Given the description of an element on the screen output the (x, y) to click on. 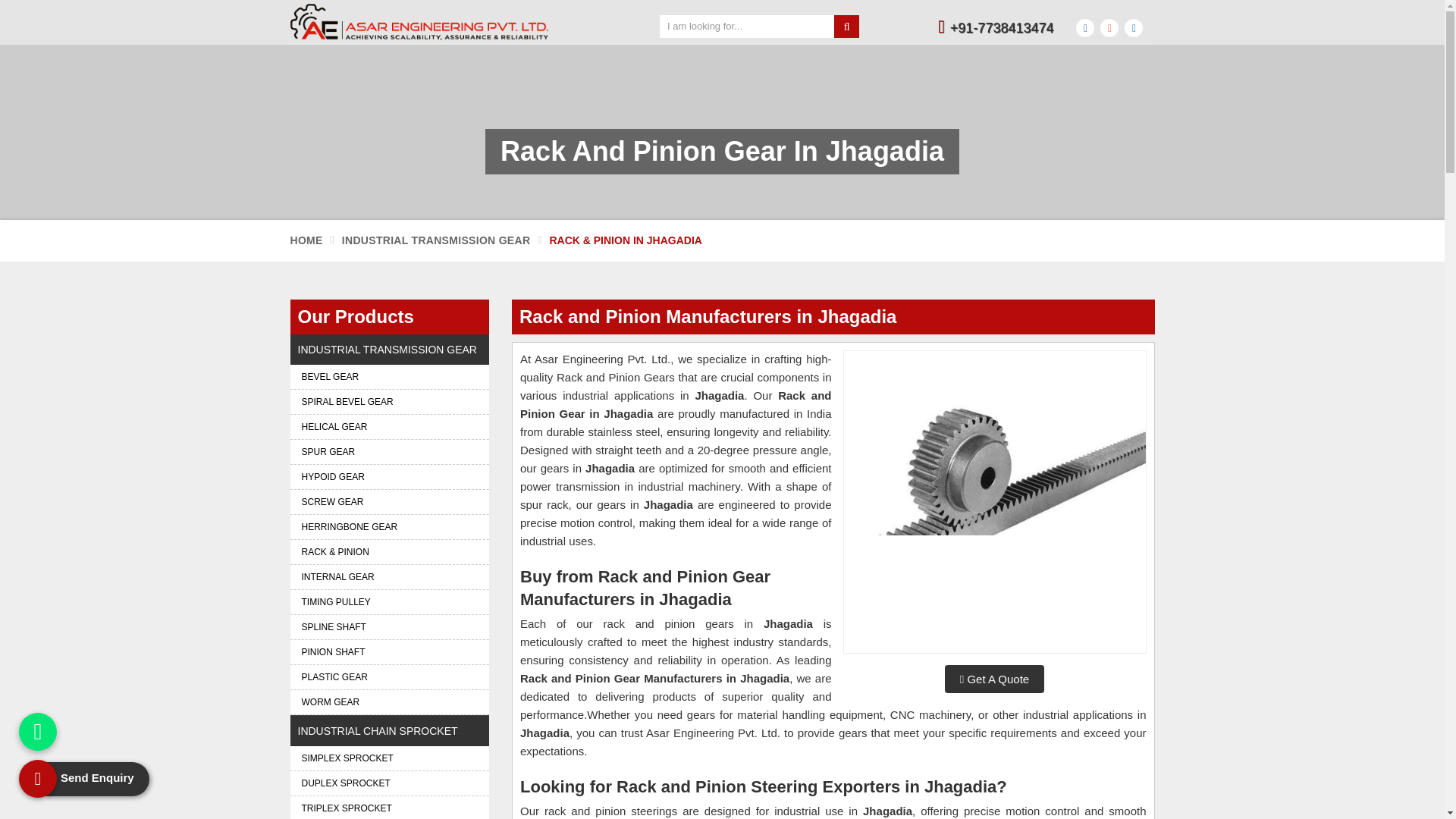
linkedin (1133, 27)
Get A Quote (993, 678)
Asar Engineering Pvt. Ltd. (463, 22)
Get A Quote (993, 678)
 Rack and Pinion Manufacturers Manufacturers in Jhagadia (993, 502)
facebook (1084, 27)
Industrial Transmission Gear (436, 240)
Asar Engineering Pvt. Ltd. (418, 22)
instagram (1109, 27)
 Rack and Pinion Manufacturers Manufacturers in Jhagadia (995, 501)
